Given the description of an element on the screen output the (x, y) to click on. 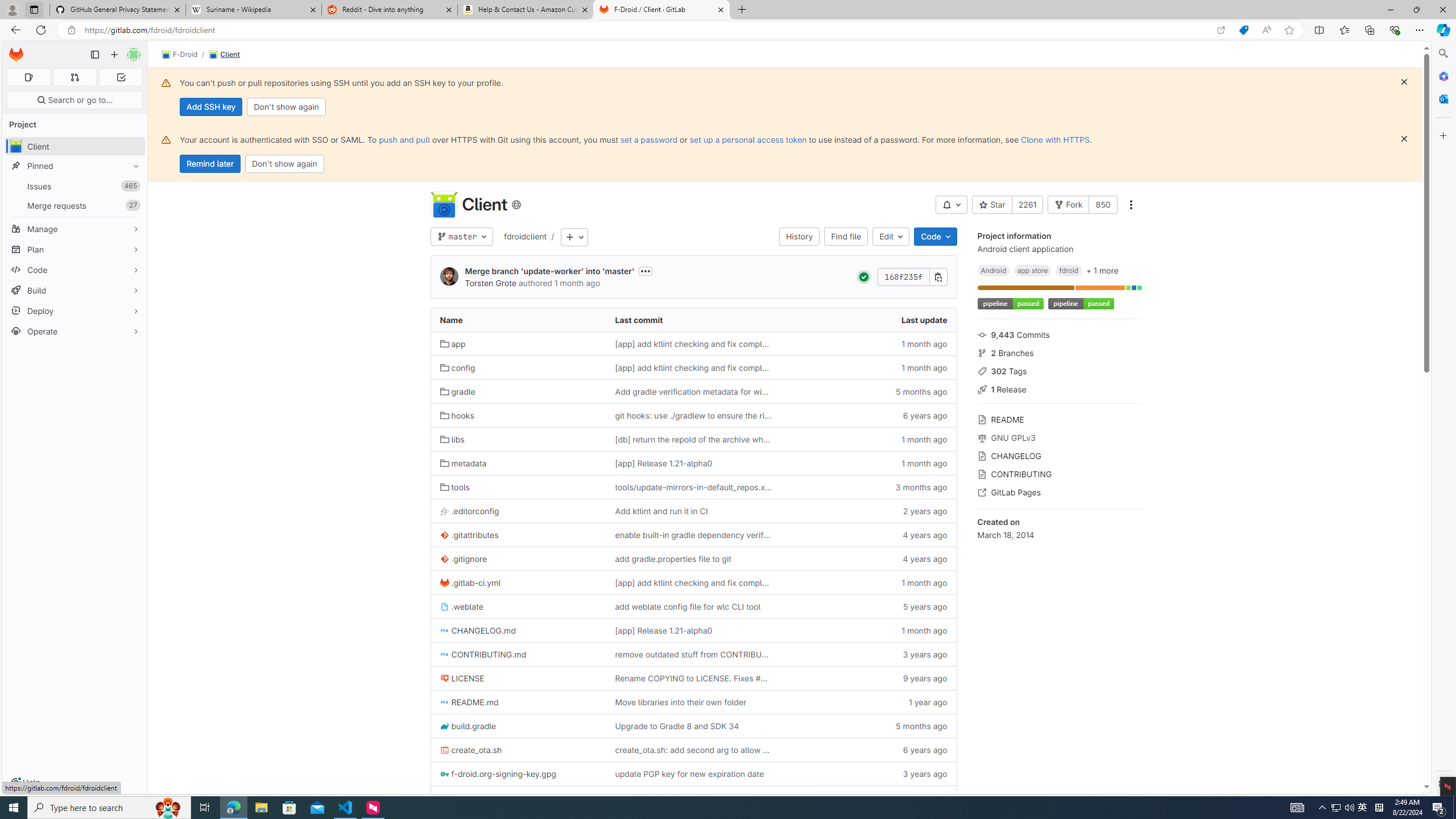
Merge requests 0 (74, 76)
1 month ago (868, 630)
CHANGELOG (1058, 455)
set a password (649, 139)
3 years ago (868, 773)
Unpin Issues (132, 186)
config (457, 367)
Rename COPYING to LICENSE. Fixes #384 (692, 678)
Add ktlint and run it in CI (660, 511)
Pipeline: Passed (863, 277)
